Given the description of an element on the screen output the (x, y) to click on. 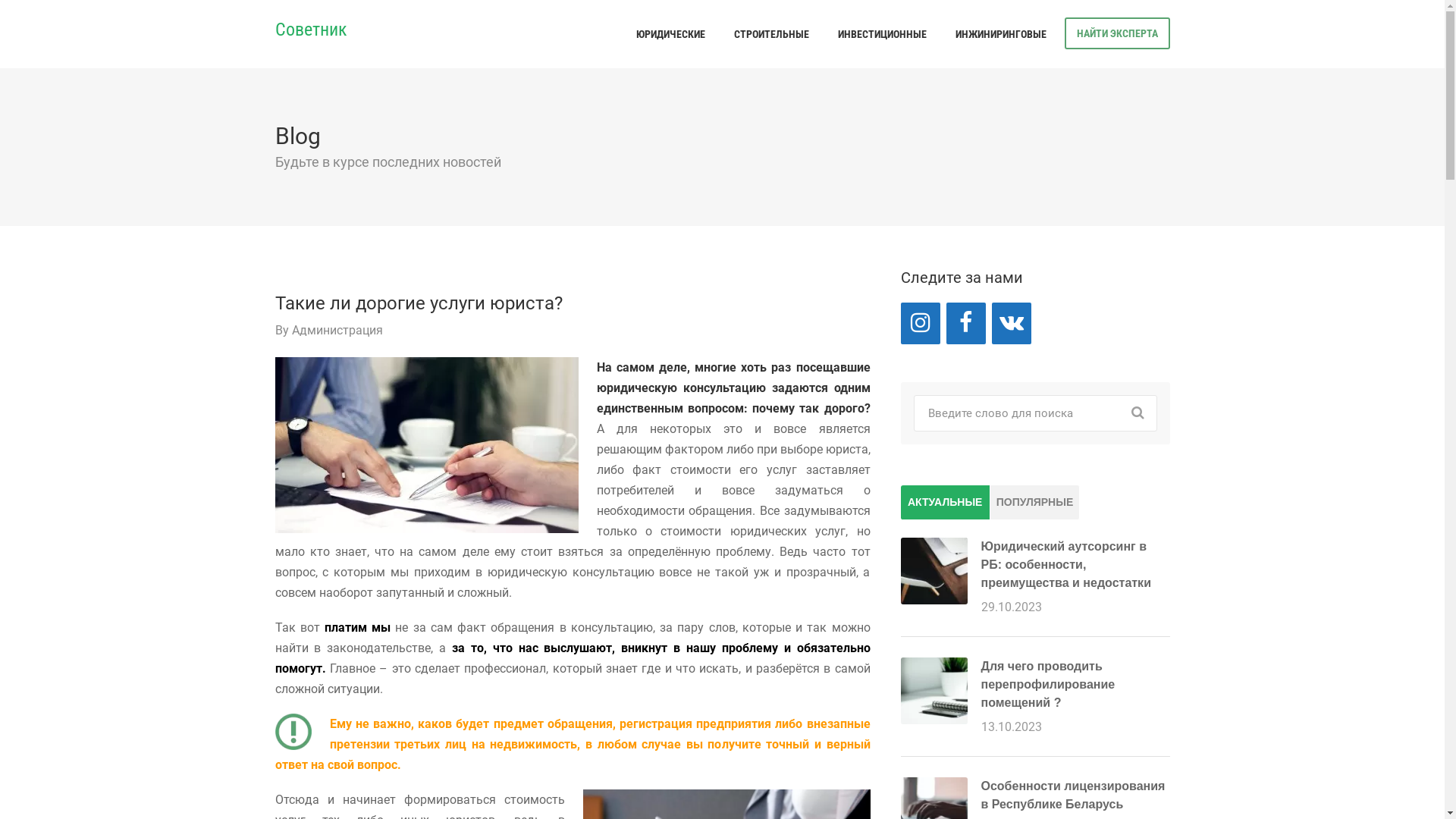
Facebook Element type: hover (965, 323)
Instagram Element type: hover (920, 323)
VK Element type: hover (1011, 323)
